Given the description of an element on the screen output the (x, y) to click on. 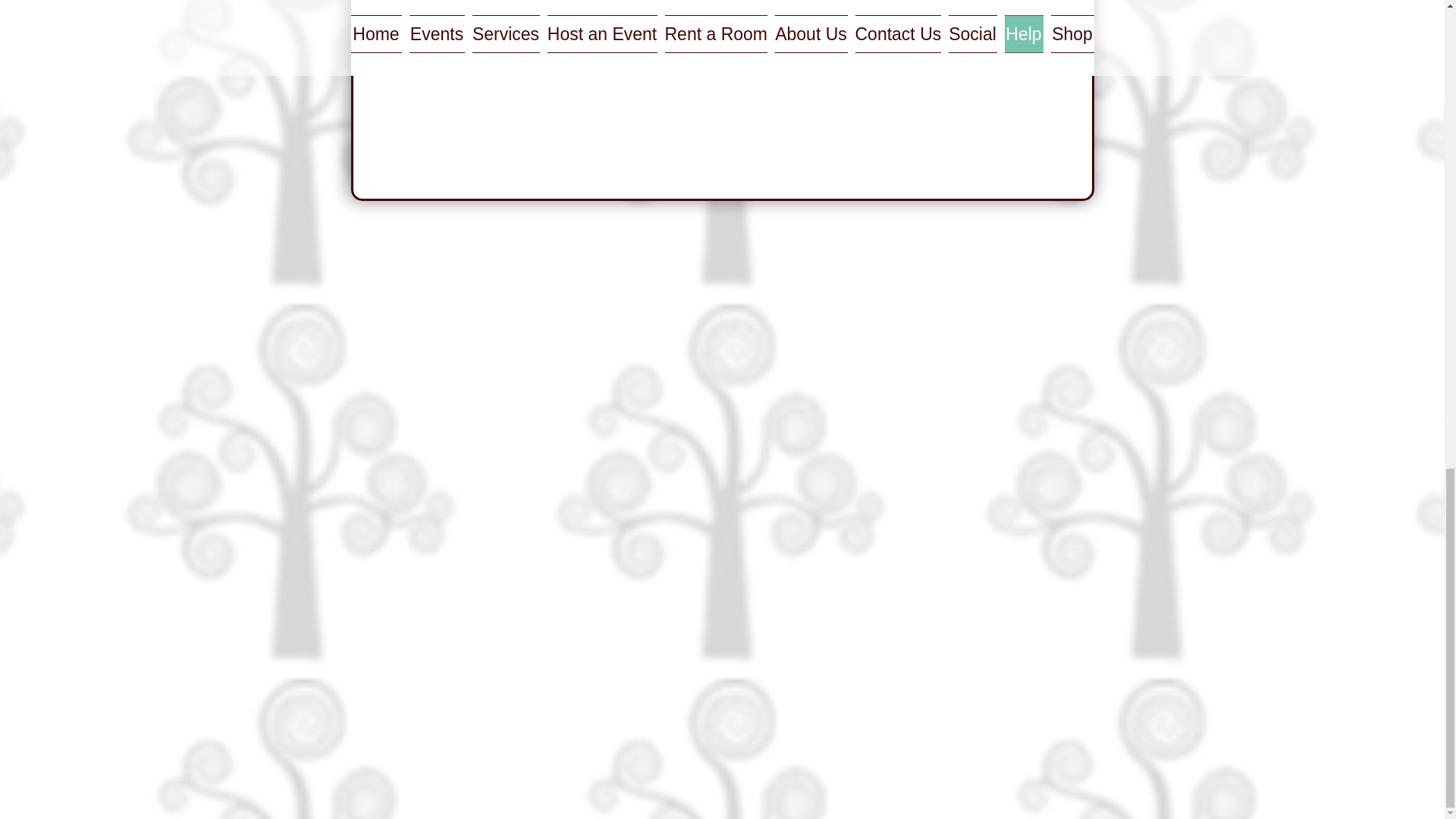
Twitter  (509, 4)
